Given the description of an element on the screen output the (x, y) to click on. 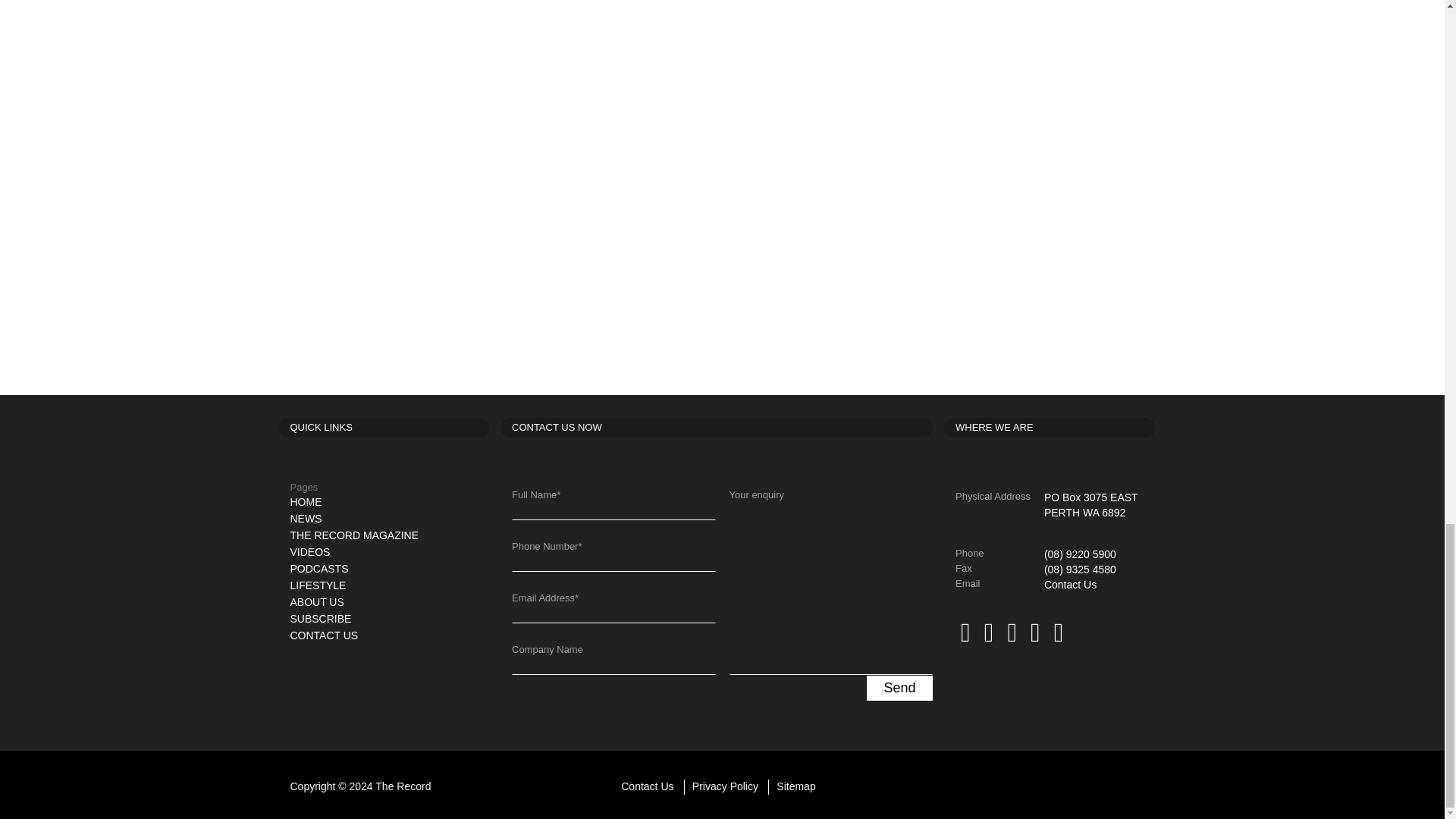
Send (899, 688)
